Given the description of an element on the screen output the (x, y) to click on. 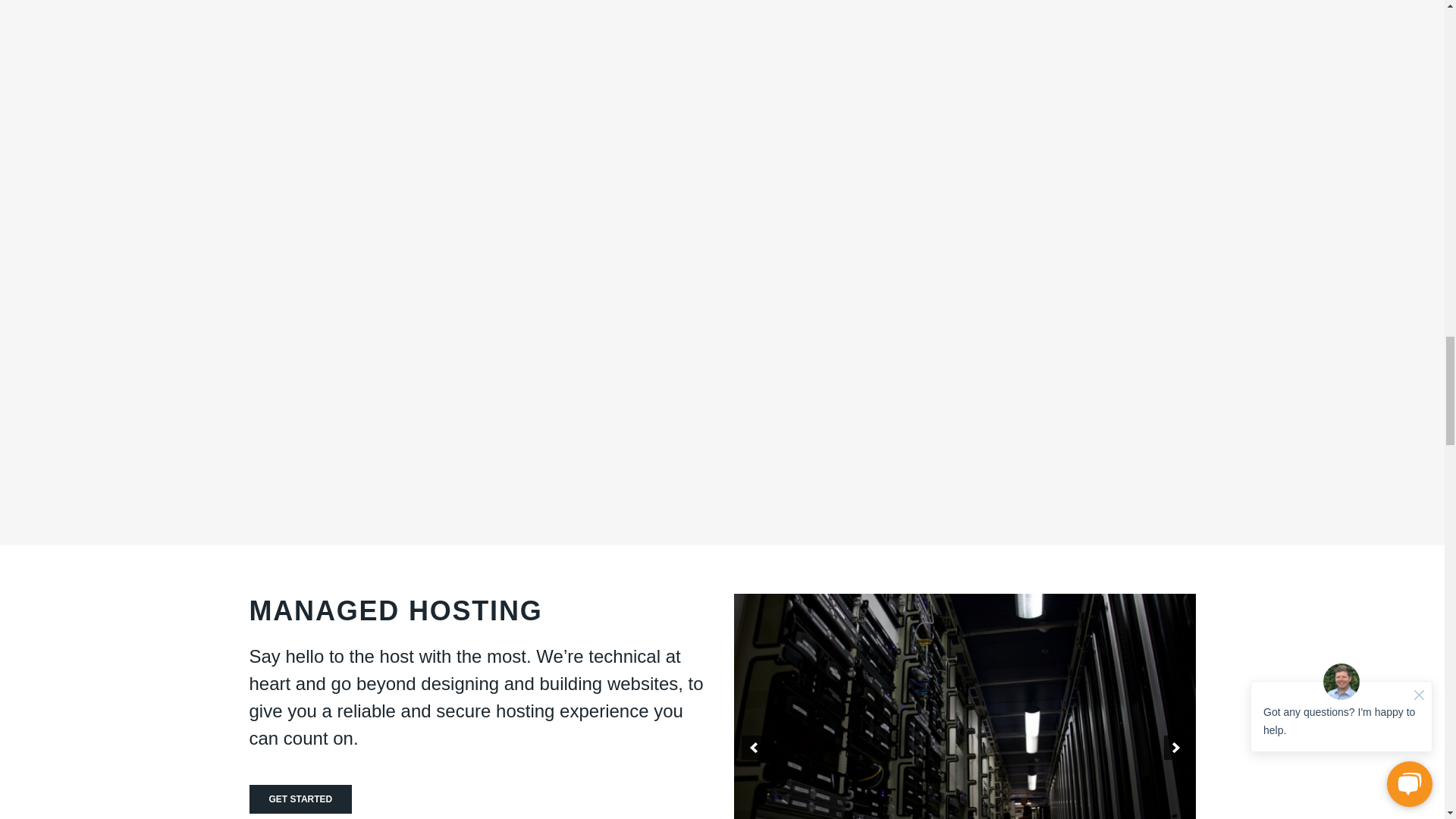
GET STARTED (300, 799)
